Given the description of an element on the screen output the (x, y) to click on. 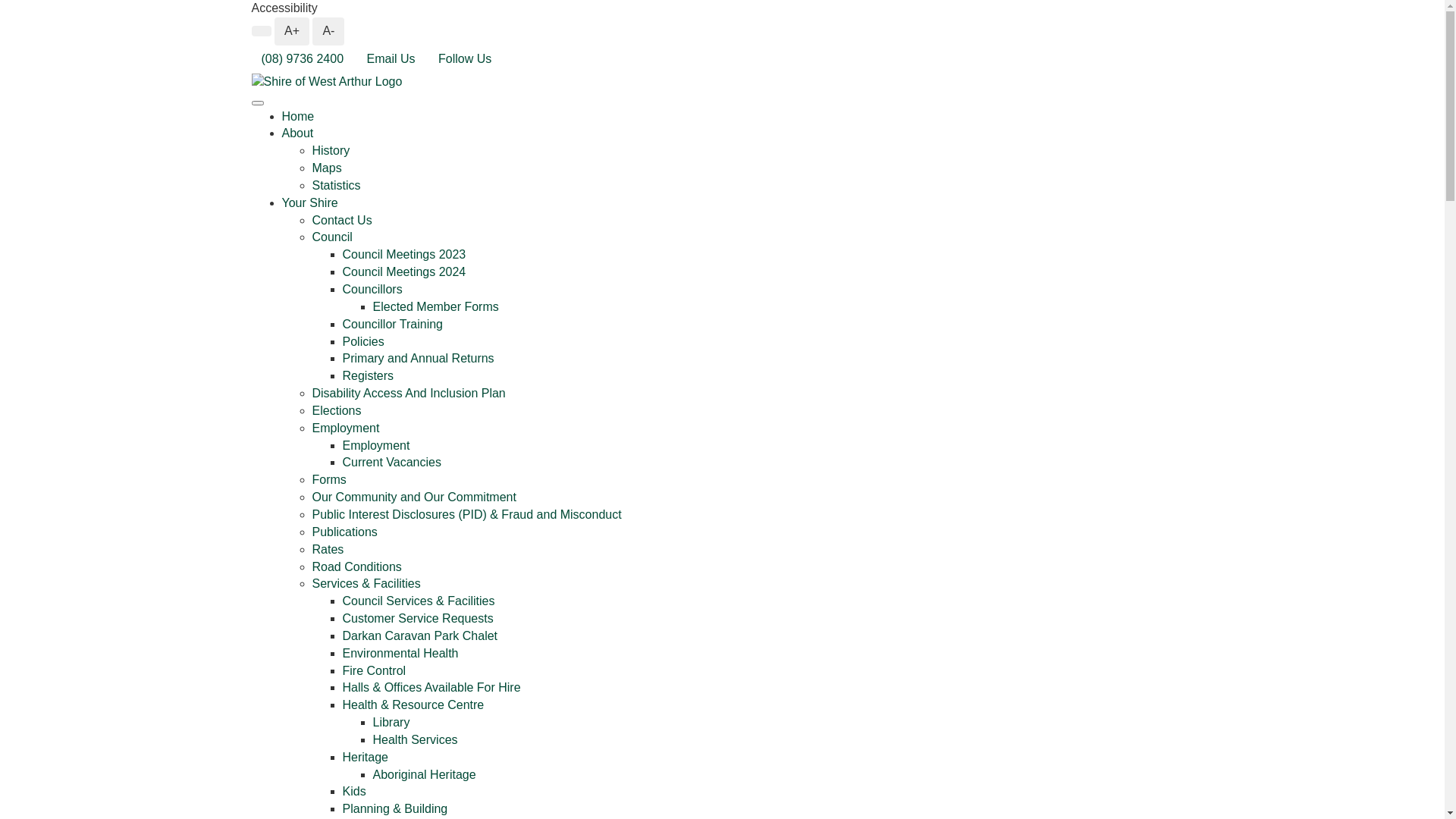
Follow Us Element type: text (464, 59)
Forms Element type: text (329, 479)
Contact Us Element type: text (342, 219)
Employment Element type: text (376, 445)
About Element type: text (297, 132)
Health Services Element type: text (415, 739)
Kids Element type: text (354, 790)
Customer Service Requests Element type: text (417, 617)
Council Services & Facilities Element type: text (418, 600)
Employment Element type: text (345, 427)
Maps Element type: text (327, 167)
Elections Element type: text (336, 410)
Policies Element type: text (363, 341)
Road Conditions Element type: text (356, 565)
Home Element type: text (298, 115)
Planning & Building Element type: text (395, 808)
Registers Element type: text (368, 375)
Our Community and Our Commitment Element type: text (414, 496)
A+ Element type: text (291, 31)
Environmental Health Element type: text (400, 652)
Rates Element type: text (328, 548)
Council Meetings 2023 Element type: text (404, 253)
Email Us Element type: text (390, 59)
Library Element type: text (391, 721)
Menu Element type: text (257, 102)
Statistics Element type: text (336, 184)
History Element type: text (331, 150)
Publications Element type: text (344, 531)
Fire Control Element type: text (374, 670)
Councillor Training Element type: text (392, 323)
Elected Member Forms Element type: text (435, 306)
A- Element type: text (328, 31)
Council Meetings 2024 Element type: text (404, 271)
Services & Facilities Element type: text (366, 583)
Your Shire Element type: text (310, 202)
Public Interest Disclosures (PID) & Fraud and Misconduct Element type: text (466, 514)
Primary and Annual Returns Element type: text (418, 357)
Councillors Element type: text (372, 288)
Halls & Offices Available For Hire Element type: text (431, 686)
Current Vacancies Element type: text (391, 461)
Disability Access And Inclusion Plan Element type: text (408, 392)
(08) 9736 2400 Element type: text (302, 59)
Aboriginal Heritage Element type: text (424, 774)
High Contrast Element type: text (261, 30)
Heritage Element type: text (365, 756)
Council Element type: text (332, 236)
Darkan Caravan Park Chalet Element type: text (420, 635)
Health & Resource Centre Element type: text (413, 704)
